Given the description of an element on the screen output the (x, y) to click on. 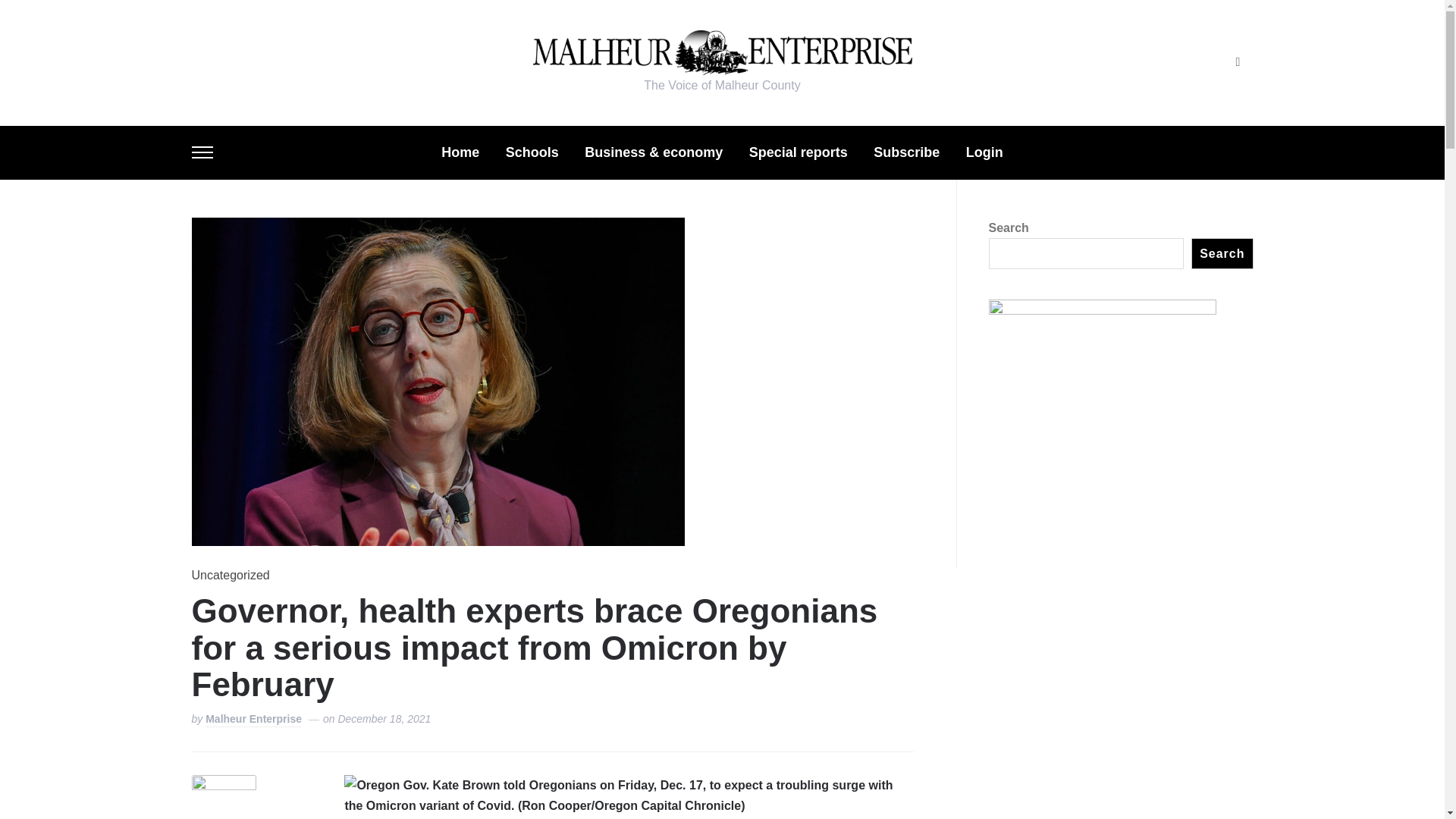
Schools (532, 152)
Special reports (798, 152)
Home (460, 152)
Subscribe (906, 152)
Search (1237, 62)
Posts by Malheur Enterprise (253, 719)
Malheur Enterprise (253, 719)
Login (984, 152)
